Given the description of an element on the screen output the (x, y) to click on. 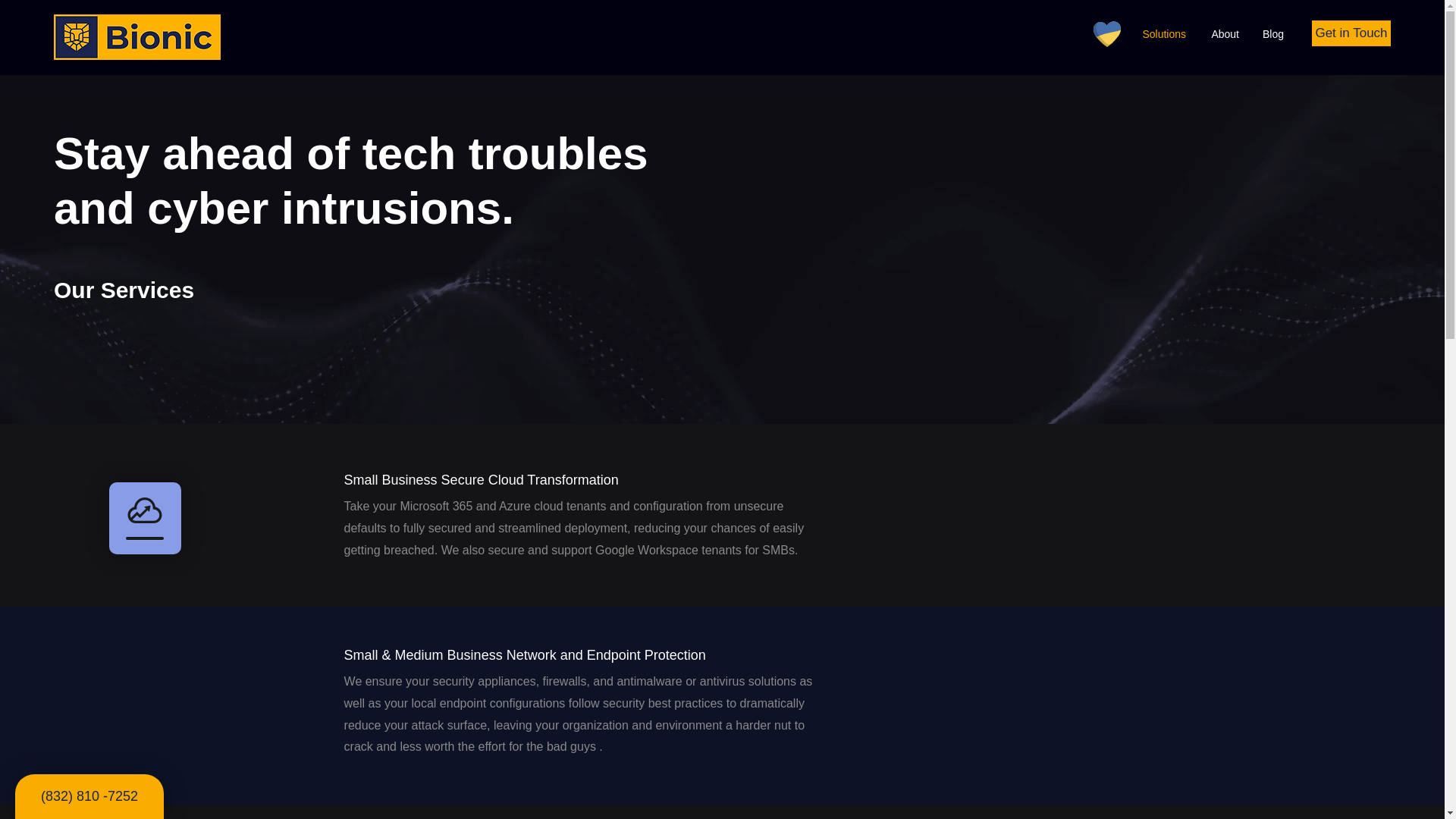
Solutions (1161, 34)
Blog (1272, 34)
Get in Touch (1350, 32)
About (1223, 34)
